Given the description of an element on the screen output the (x, y) to click on. 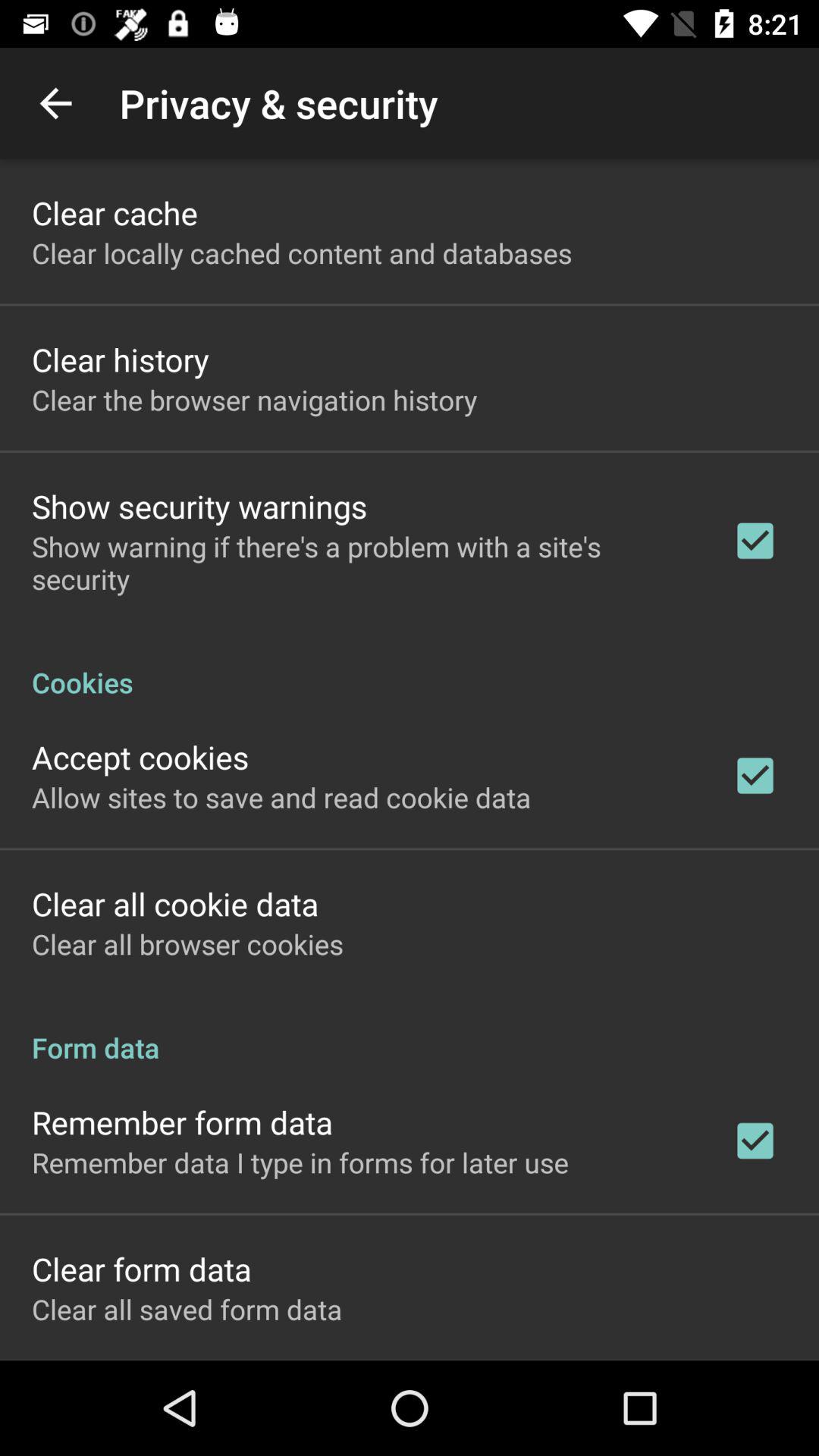
tap accept cookies icon (140, 756)
